Given the description of an element on the screen output the (x, y) to click on. 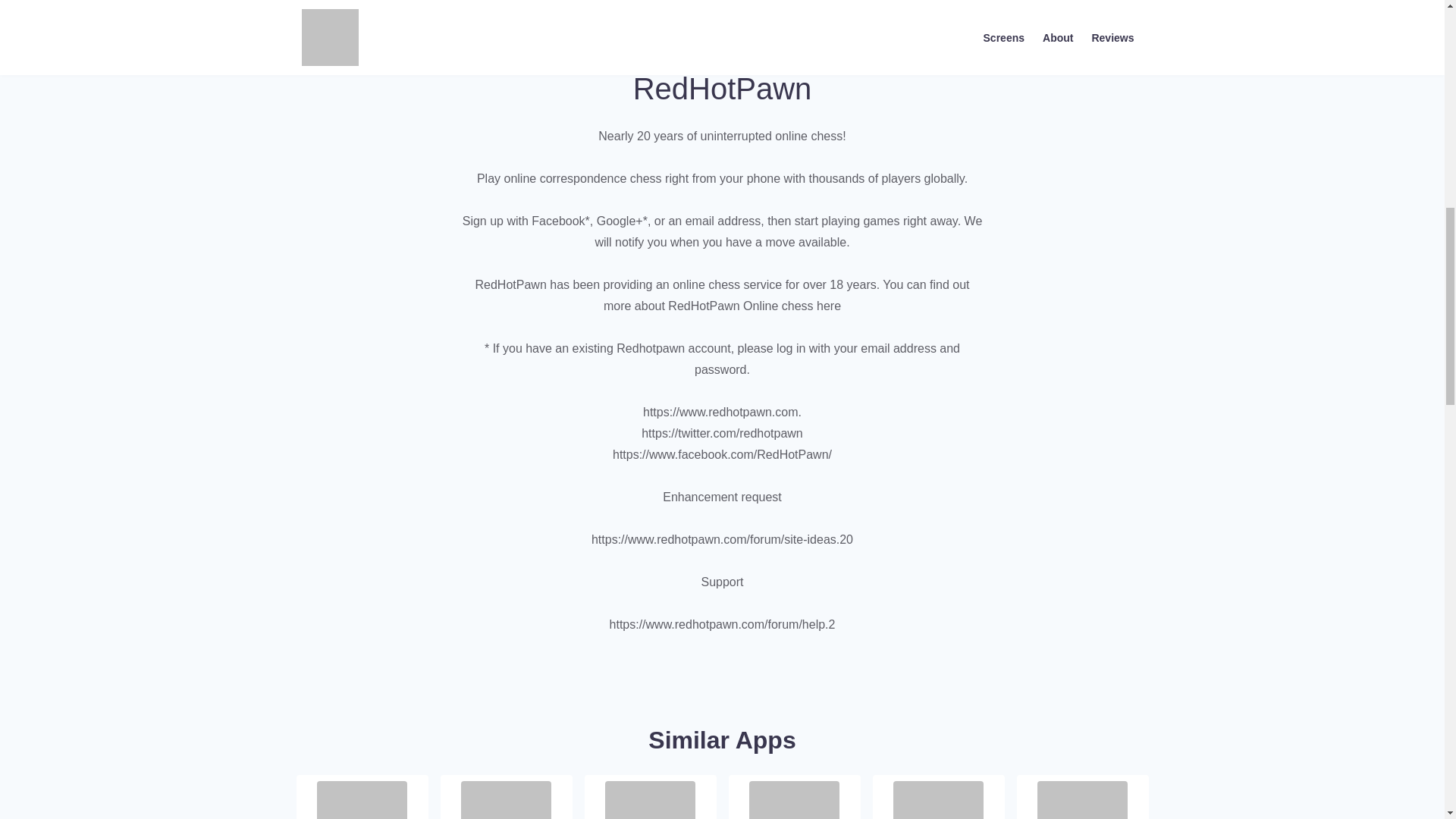
AppPage.net (956, 4)
